Given the description of an element on the screen output the (x, y) to click on. 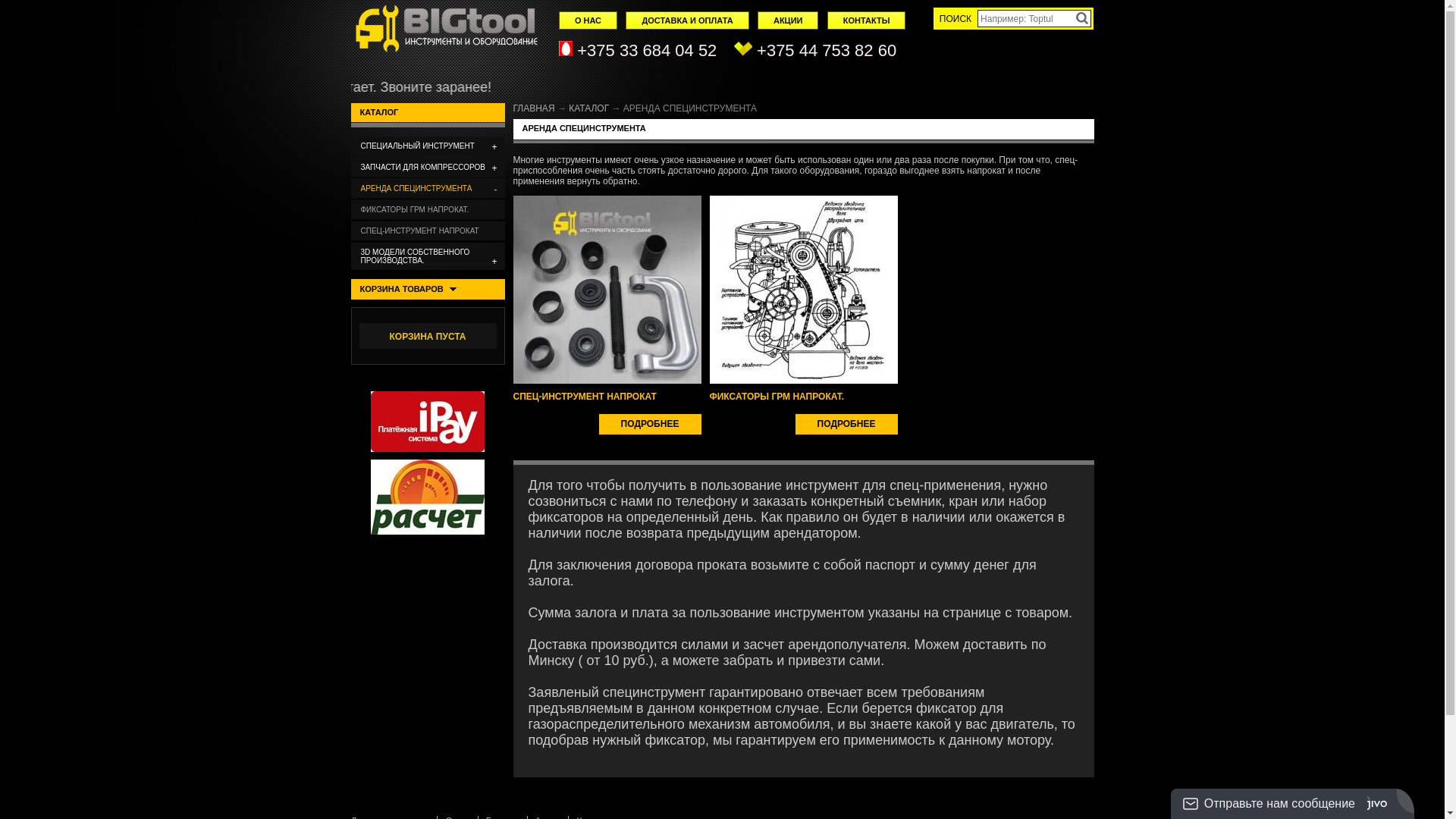
          Element type: text (1082, 18)
Aliquam tempor venenatis Element type: hover (606, 200)
Aliquam tempor venenatis Element type: hover (803, 200)
